Given the description of an element on the screen output the (x, y) to click on. 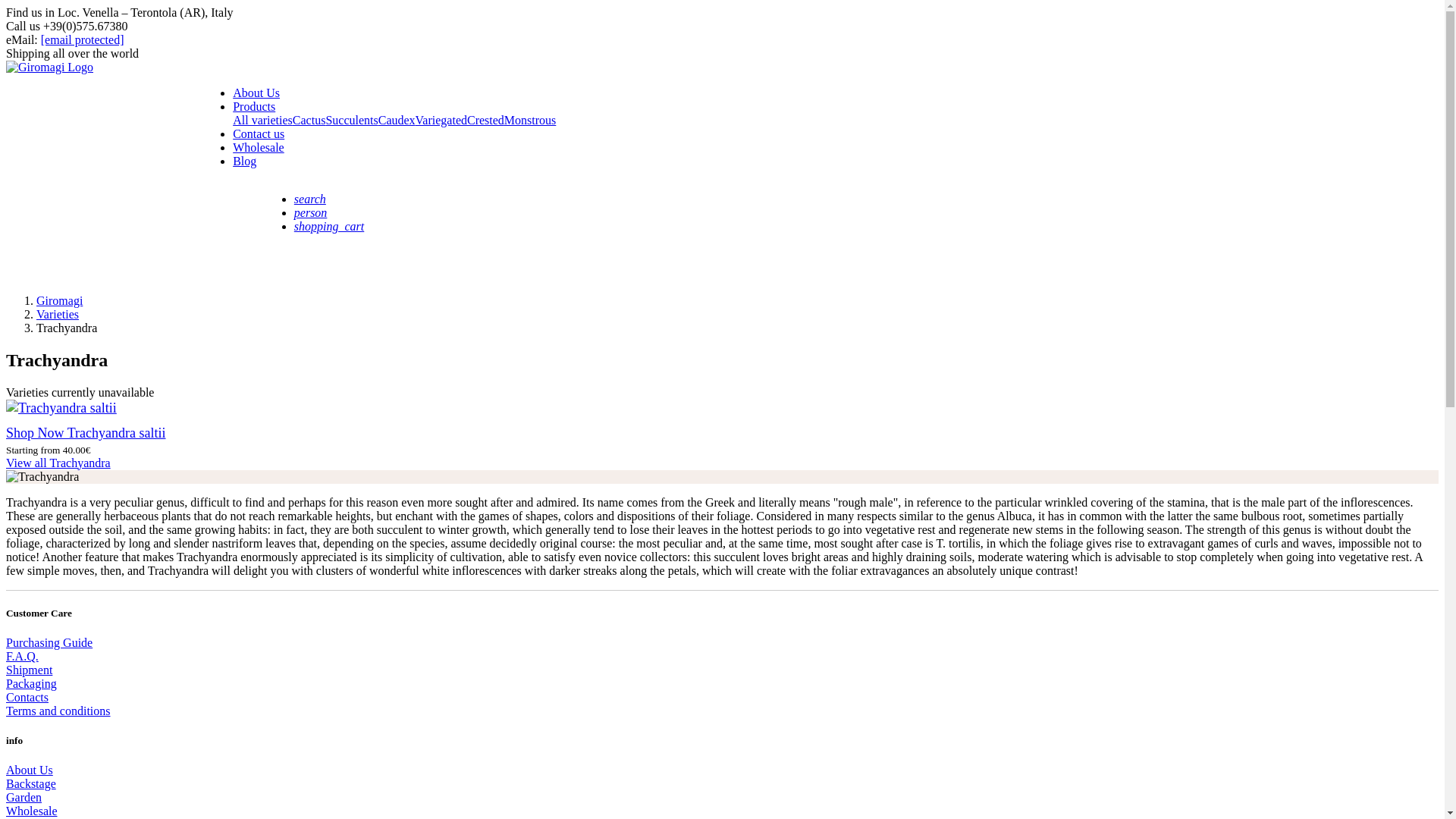
Variegated (440, 119)
Cactus (309, 119)
About Us (255, 92)
Wholesale (31, 810)
Packaging (30, 683)
All varieties (262, 119)
Shop Now Trachyandra saltii (85, 432)
Contacts (26, 697)
Backstage (30, 783)
Giromagi (59, 300)
